Given the description of an element on the screen output the (x, y) to click on. 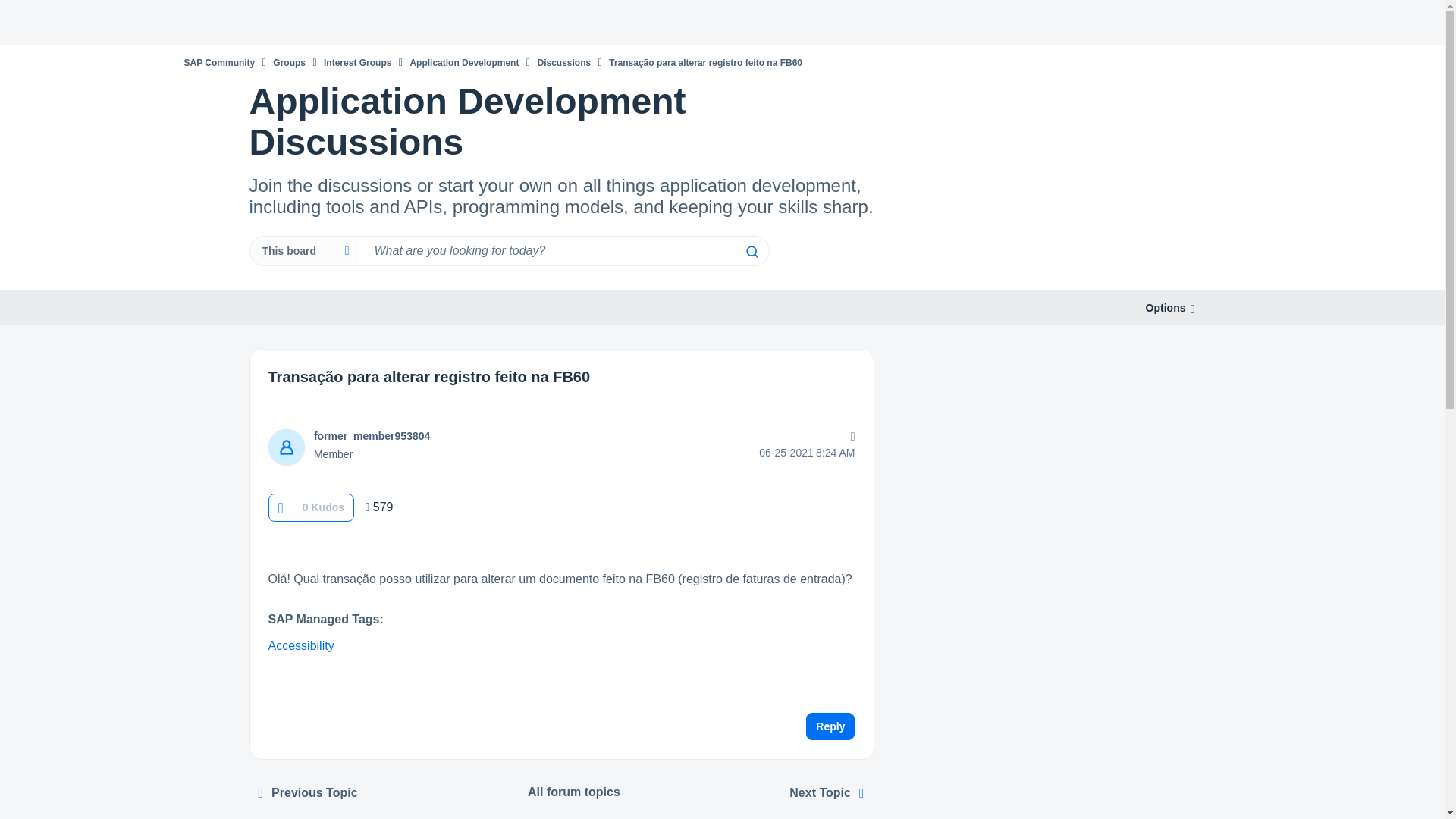
SAP Community (218, 62)
Application Development (463, 62)
Options (1165, 307)
Show option menu (850, 436)
Next Topic (825, 793)
Accessibility (300, 645)
Discussions (564, 62)
Show option menu (1165, 307)
All forum topics (574, 792)
Search (750, 251)
Search (563, 250)
Previous Topic (308, 793)
Groups (289, 62)
The total number of kudos this post has received. (323, 507)
Options (850, 436)
